Given the description of an element on the screen output the (x, y) to click on. 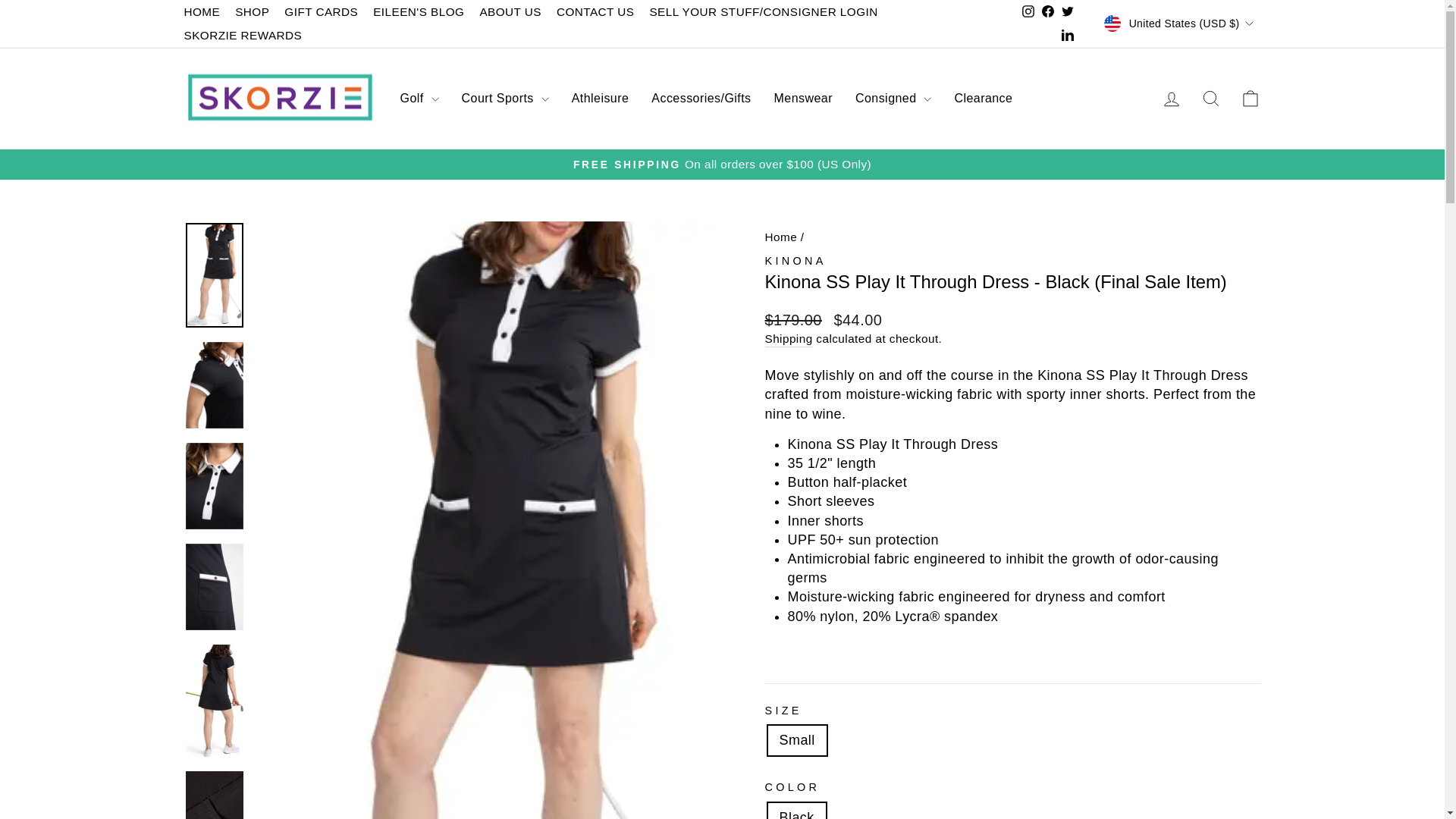
Kinona (794, 260)
icon-search (1210, 97)
twitter (1067, 10)
account (1170, 98)
icon-bag-minimal (1249, 97)
instagram (1027, 10)
Back to the frontpage (780, 236)
